Given the description of an element on the screen output the (x, y) to click on. 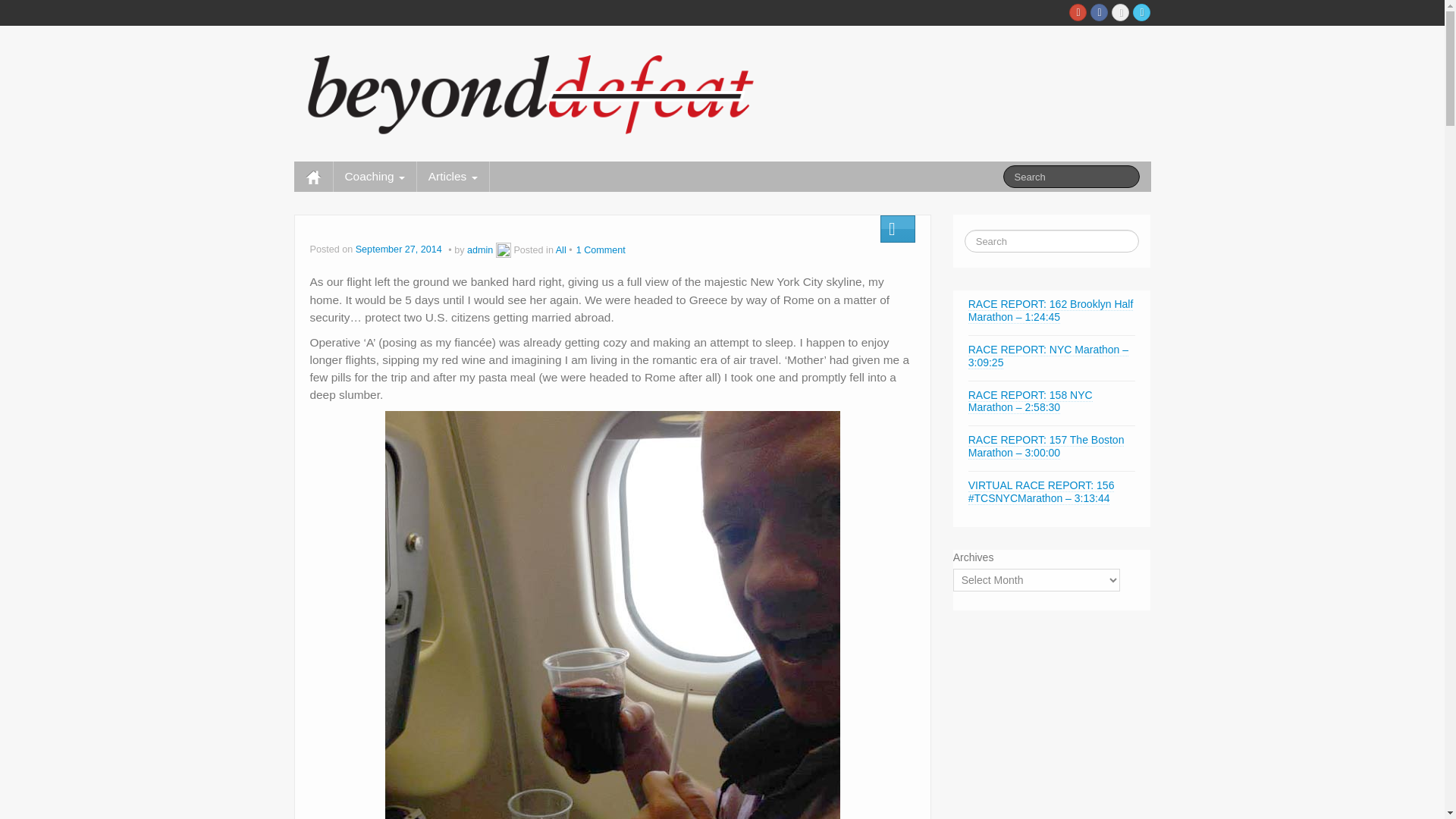
11:47 pm (400, 249)
Articles (452, 176)
BEYOND DEFEAT Googleplus (1077, 12)
admin (480, 249)
BEYOND DEFEAT Twitter (1141, 12)
BEYOND DEFEAT Vimeo (1120, 12)
View all posts by admin (480, 249)
Coaching (374, 176)
BEYOND DEFEAT Facebook (1099, 12)
All (561, 249)
